Given the description of an element on the screen output the (x, y) to click on. 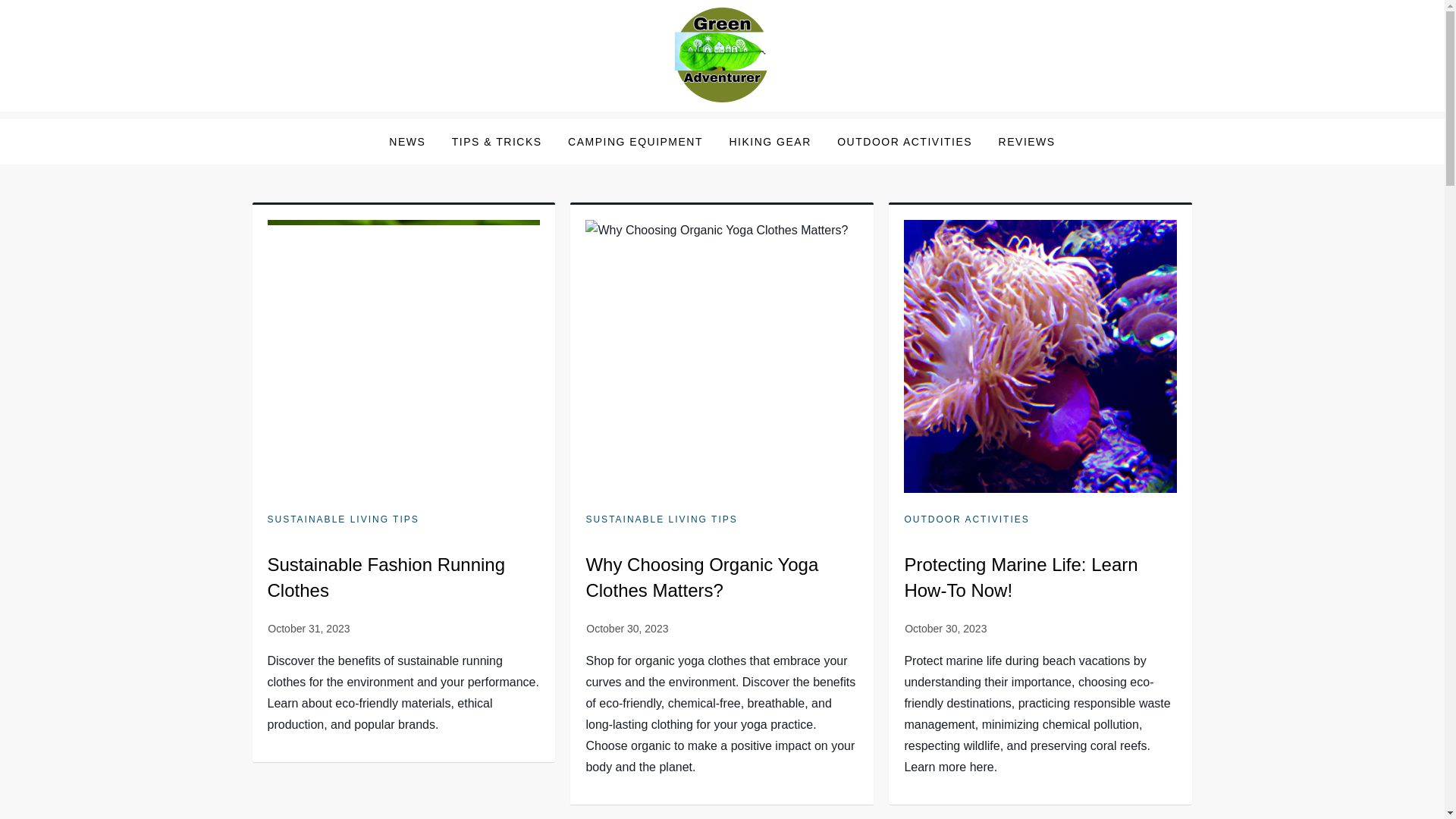
Sustainable Fashion Running Clothes (385, 577)
OUTDOOR ACTIVITIES (904, 141)
October 31, 2023 (308, 628)
Why Choosing Organic Yoga Clothes Matters? (701, 577)
CAMPING EQUIPMENT (635, 141)
SUSTAINABLE LIVING TIPS (660, 520)
SUSTAINABLE LIVING TIPS (342, 520)
OUTDOOR ACTIVITIES (966, 520)
HIKING GEAR (769, 141)
REVIEWS (1027, 141)
